Given the description of an element on the screen output the (x, y) to click on. 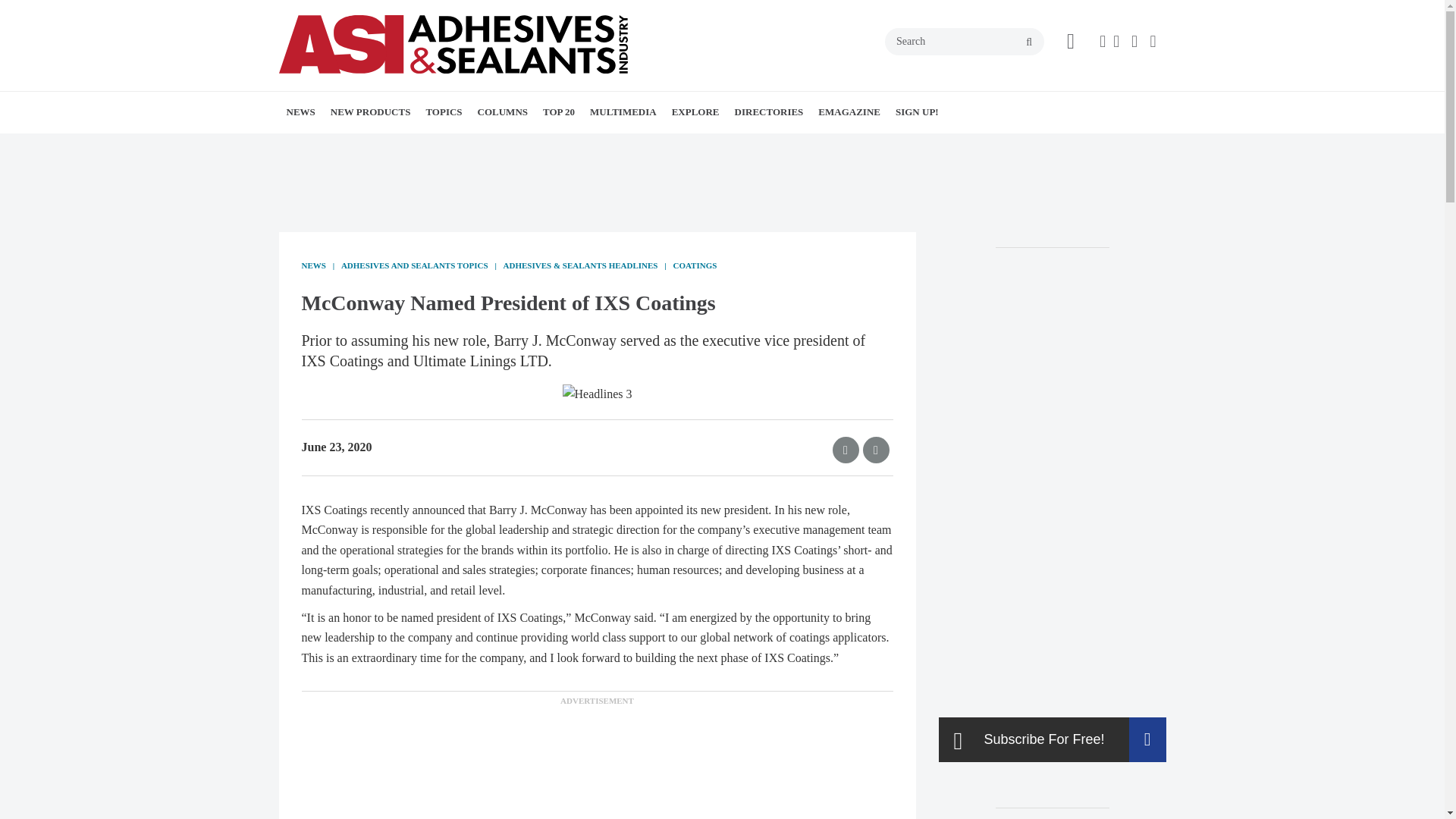
search (1029, 42)
COLUMNS (502, 111)
FINISHED ADHESIVES AND SEALANTS (512, 154)
EVENTS CALENDAR (389, 145)
NEWS (301, 111)
NEW PRODUCTS (371, 111)
STRATEGIC SOLUTIONS (571, 145)
COMPOSITES (562, 145)
TOP 20 (558, 111)
TAPE TALK (582, 145)
